Given the description of an element on the screen output the (x, y) to click on. 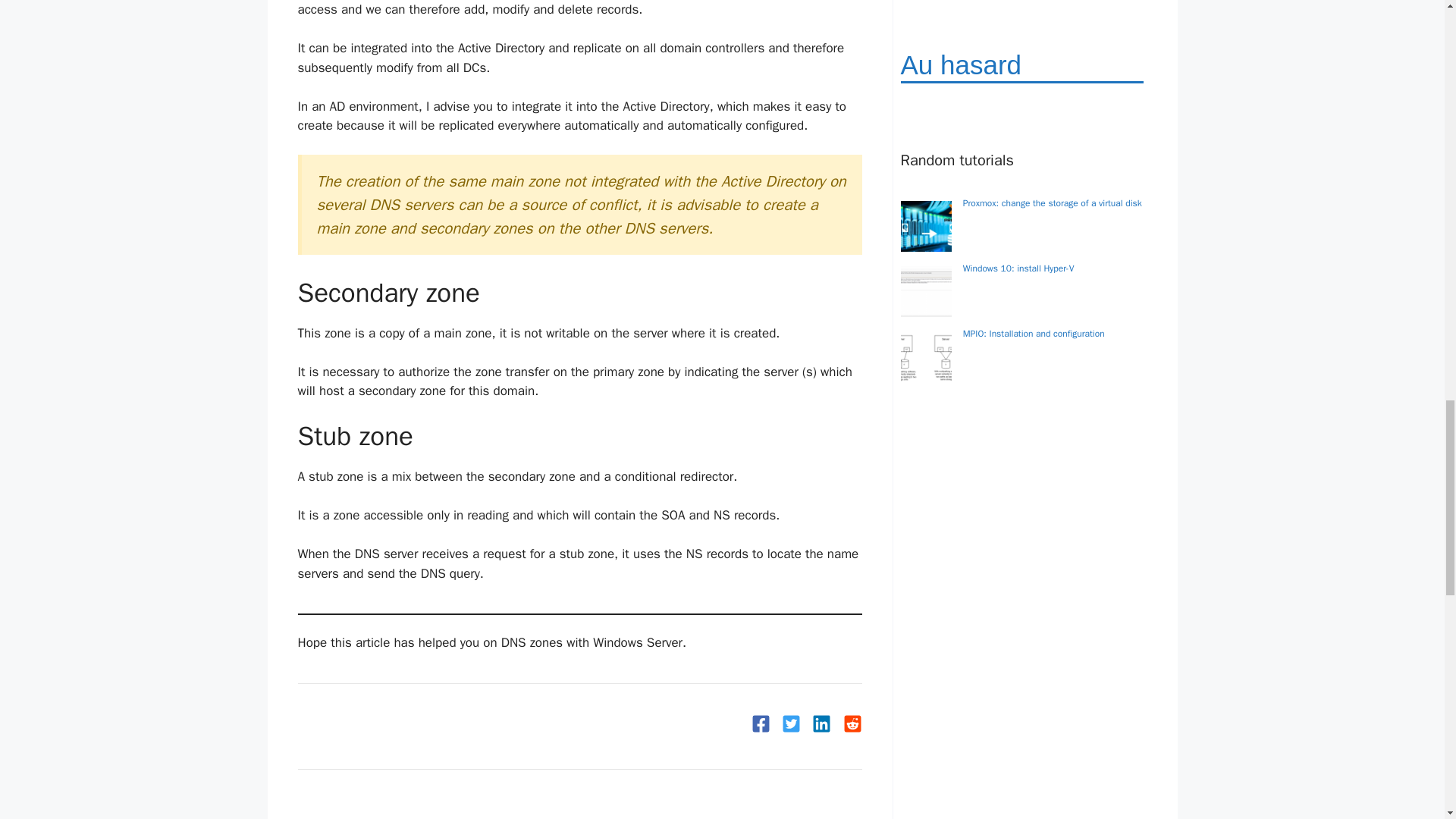
Share on Twitter (790, 729)
Share on FB (760, 729)
Buy Me a Coffee (367, 725)
Share on Linkedin (852, 729)
Share on Linkedin (821, 729)
